Given the description of an element on the screen output the (x, y) to click on. 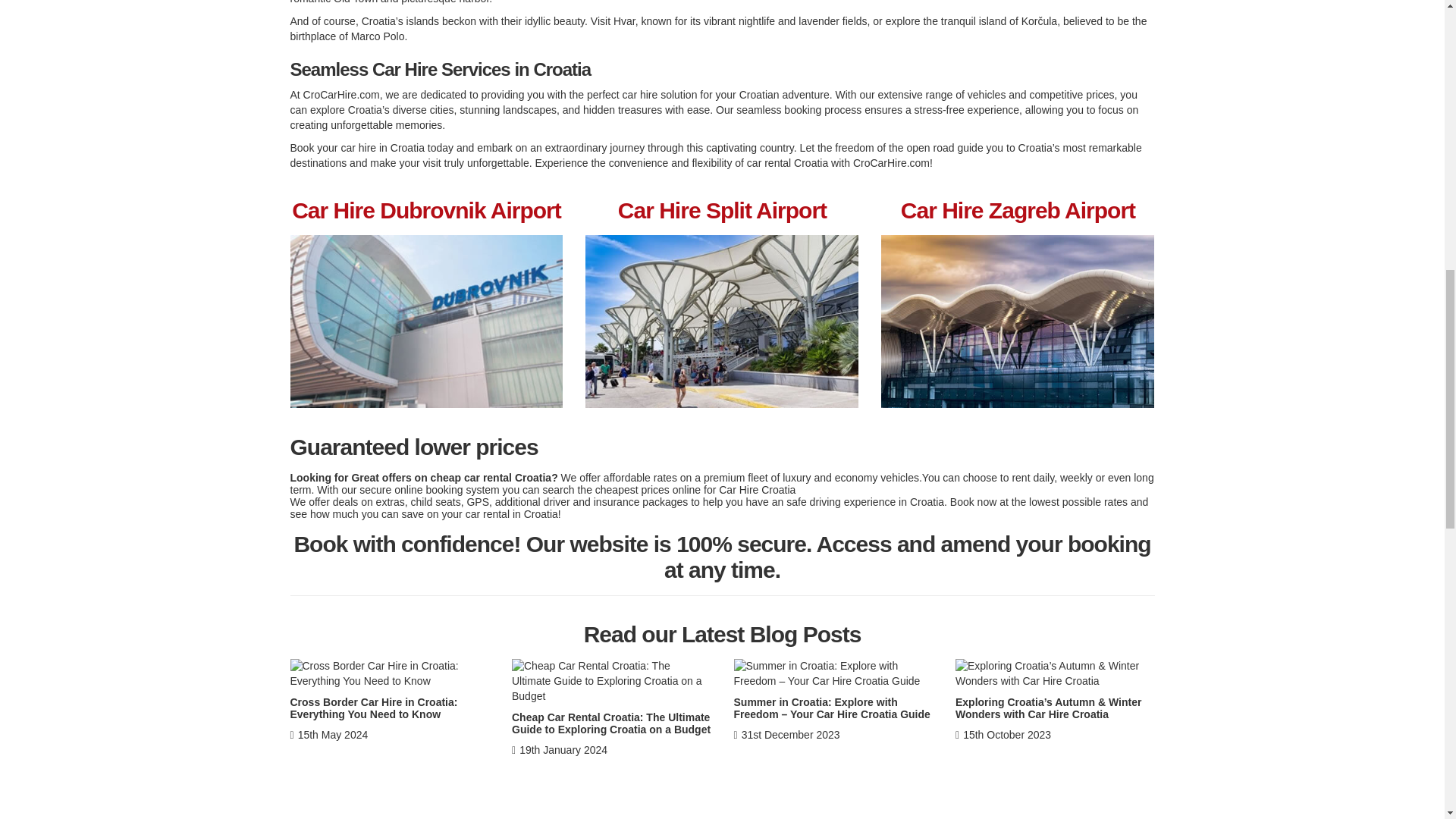
15th May 2024 (328, 734)
Car Hire Croatia (756, 490)
19th January 2024 (559, 749)
